Given the description of an element on the screen output the (x, y) to click on. 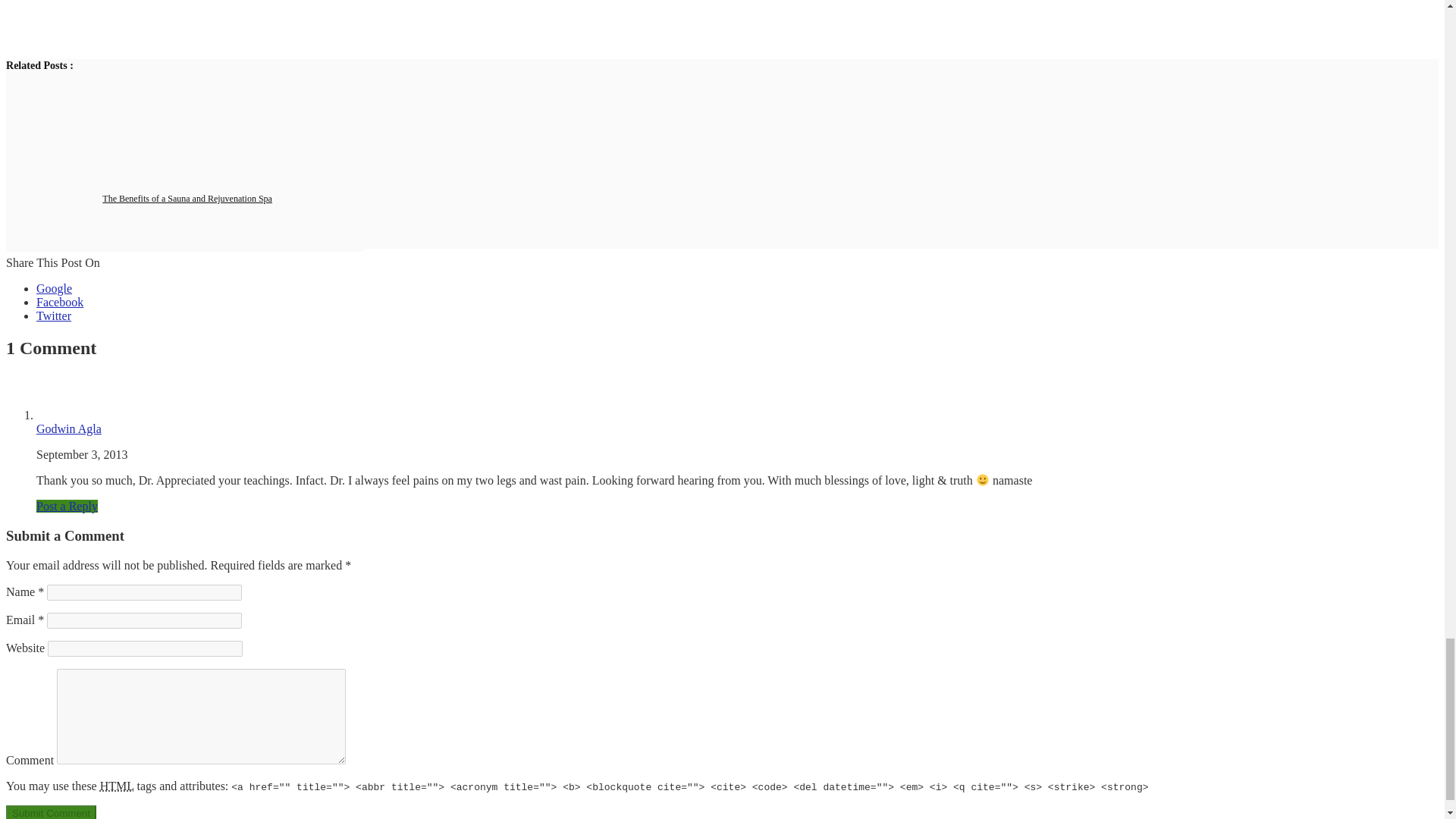
HyperText Markup Language (116, 785)
Advertisement (191, 22)
Post a Reply (66, 505)
The Benefits of a Sauna and Rejuvenation Spa (186, 198)
Facebook (59, 301)
Google (53, 287)
Godwin Agla (68, 428)
Twitter (53, 315)
